Given the description of an element on the screen output the (x, y) to click on. 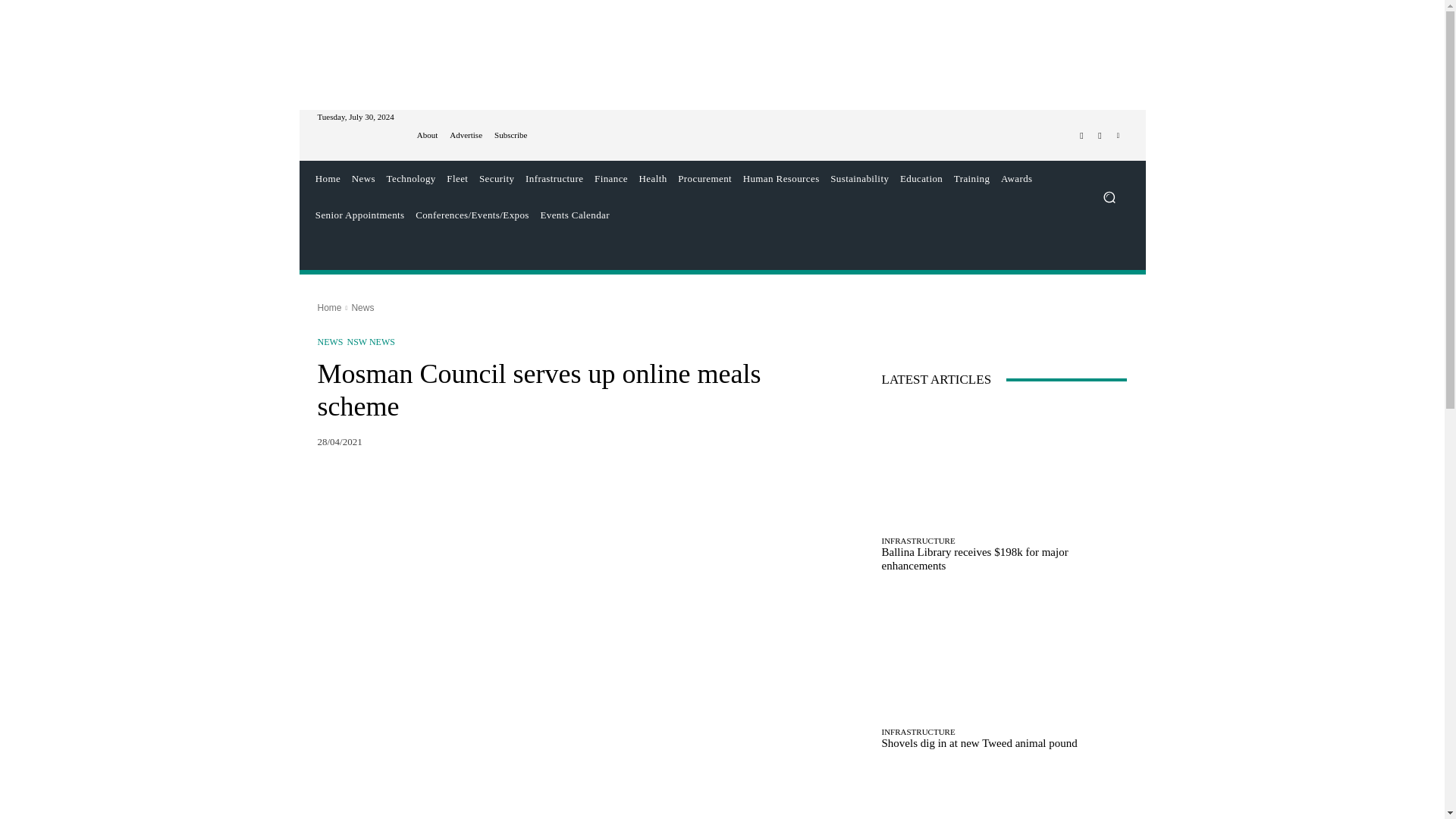
Twitter (1099, 135)
Linkedin (1117, 135)
Home (327, 178)
News (363, 178)
Subscribe (511, 135)
About (427, 135)
Facebook (1080, 135)
View all posts in News (362, 307)
Advertise (465, 135)
